Given the description of an element on the screen output the (x, y) to click on. 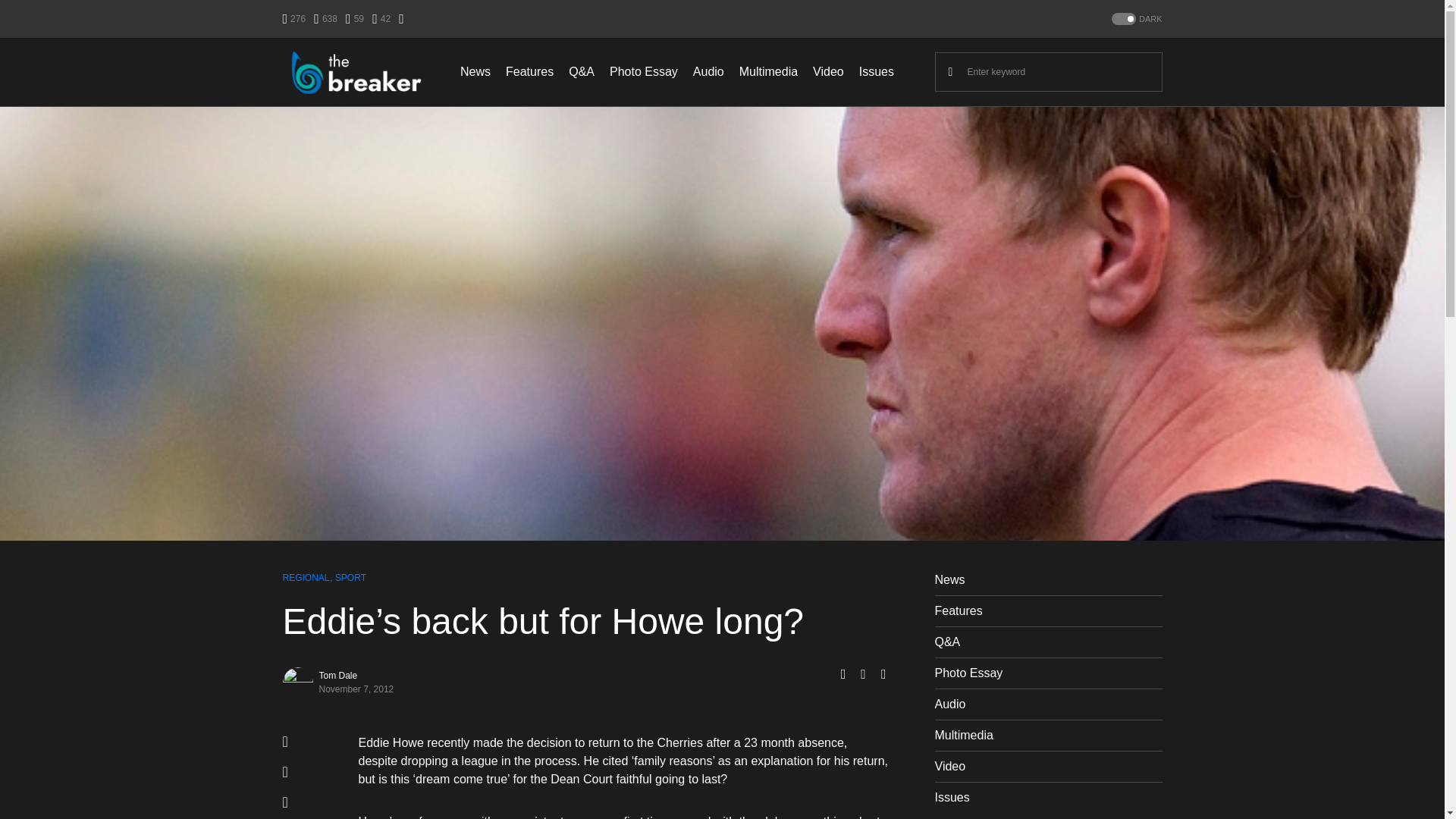
638 (325, 18)
42 (381, 18)
59 (355, 18)
Photo Essay (644, 71)
276 (293, 18)
